Given the description of an element on the screen output the (x, y) to click on. 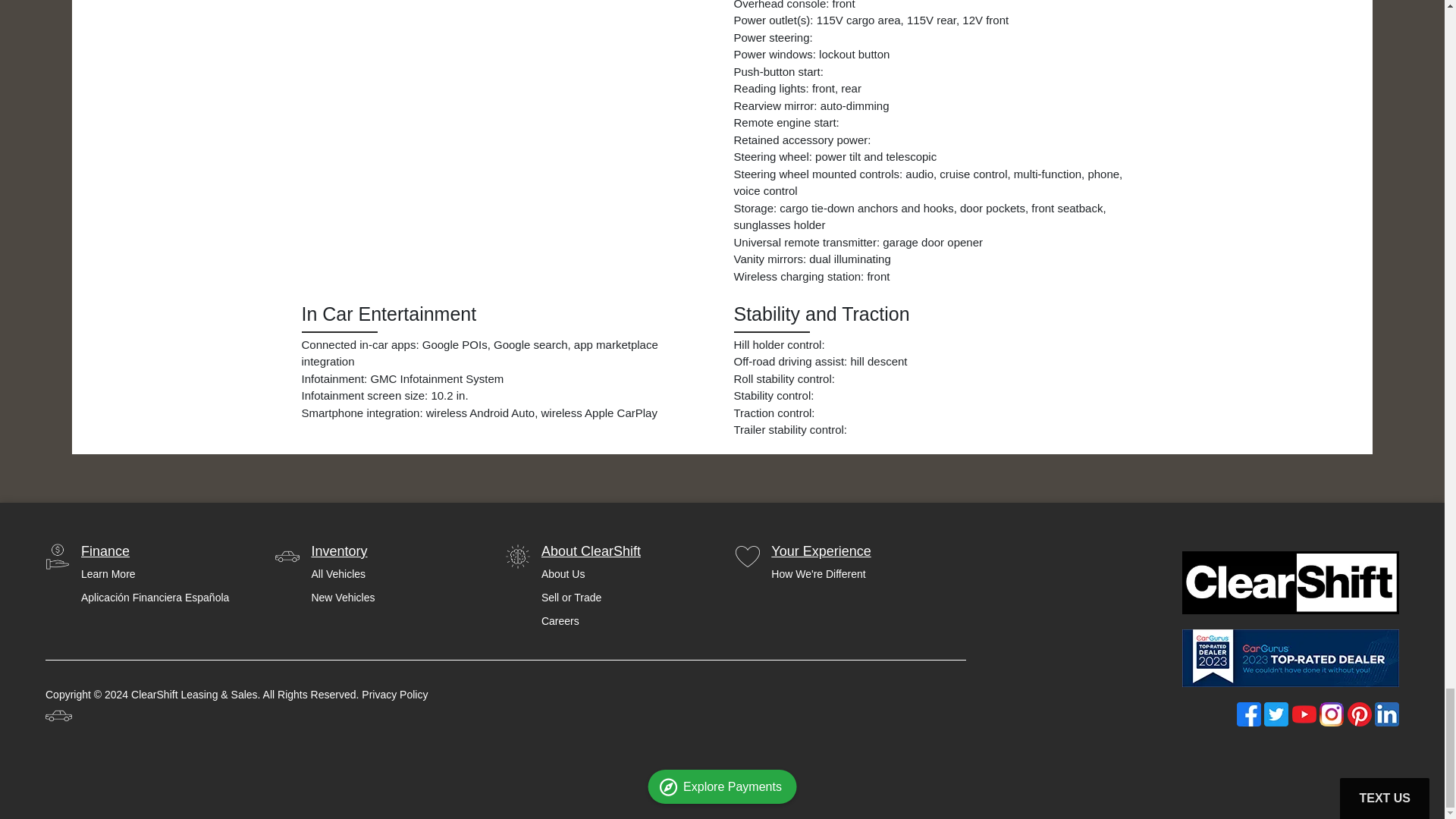
Learn More (154, 574)
Privacy Policy (394, 694)
About Us (590, 574)
All Vehicles (342, 574)
Sell or Trade (590, 597)
Careers (590, 621)
New Vehicles (342, 597)
How We're Different   (820, 574)
